Given the description of an element on the screen output the (x, y) to click on. 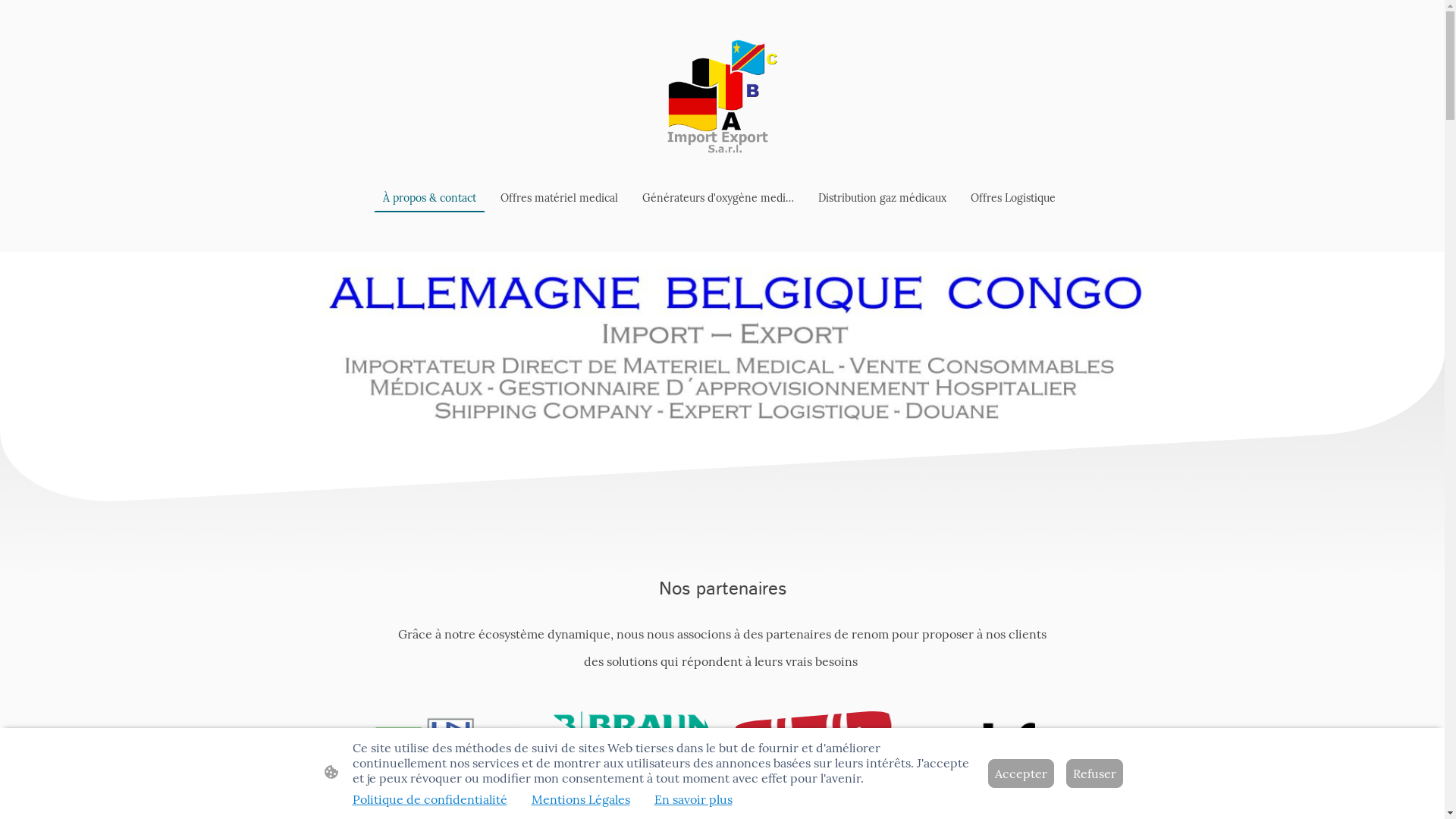
Refuser Element type: text (1094, 773)
Offres Logistique Element type: text (1013, 197)
En savoir plus Element type: text (692, 798)
Accepter Element type: text (1020, 773)
